Given the description of an element on the screen output the (x, y) to click on. 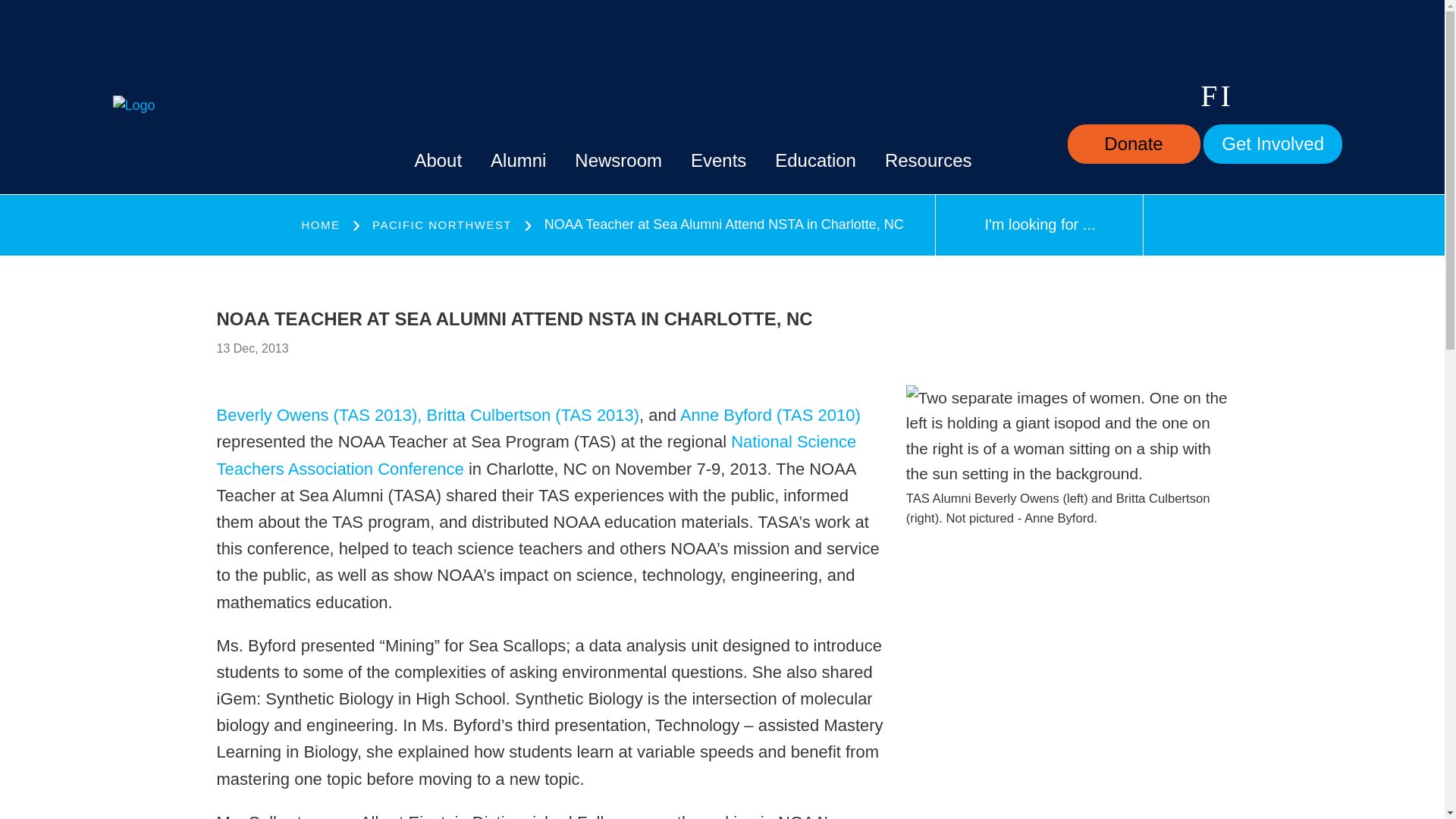
PACIFIC NORTHWEST (442, 225)
Resources (928, 160)
Events (717, 160)
HOME (320, 225)
Get Involved (1273, 143)
About (437, 160)
Education (815, 160)
National Science Teachers Association Conference (536, 454)
Newsroom (618, 160)
Alumni (518, 160)
Donate (1133, 143)
